Given the description of an element on the screen output the (x, y) to click on. 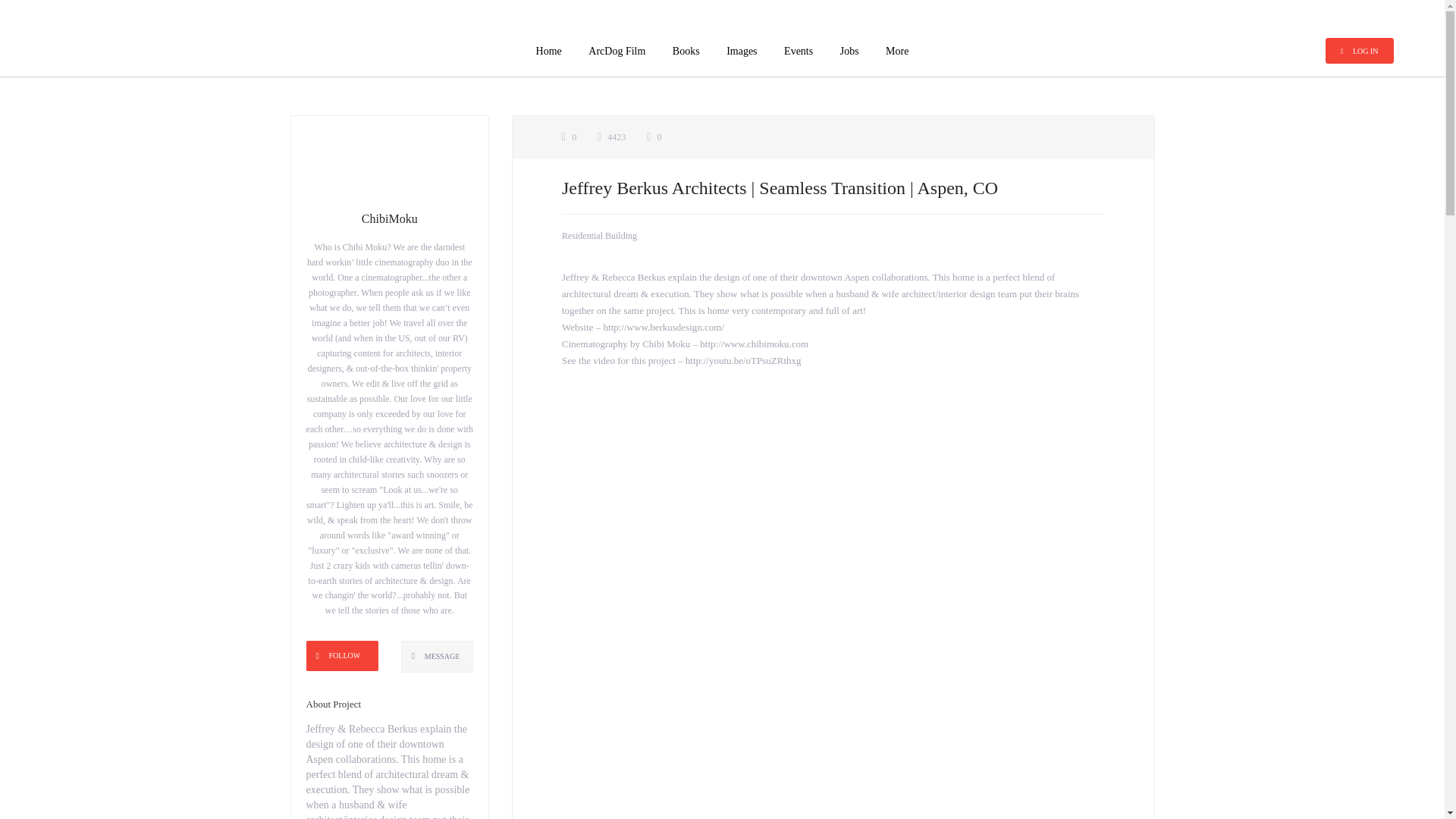
LOG IN (1358, 50)
Books (686, 50)
ArcDog (110, 50)
Home (548, 50)
ArcDog Film (616, 50)
More (896, 50)
0 (653, 136)
Residential Building (599, 235)
Jobs (849, 50)
Events (798, 50)
Images (741, 50)
